Given the description of an element on the screen output the (x, y) to click on. 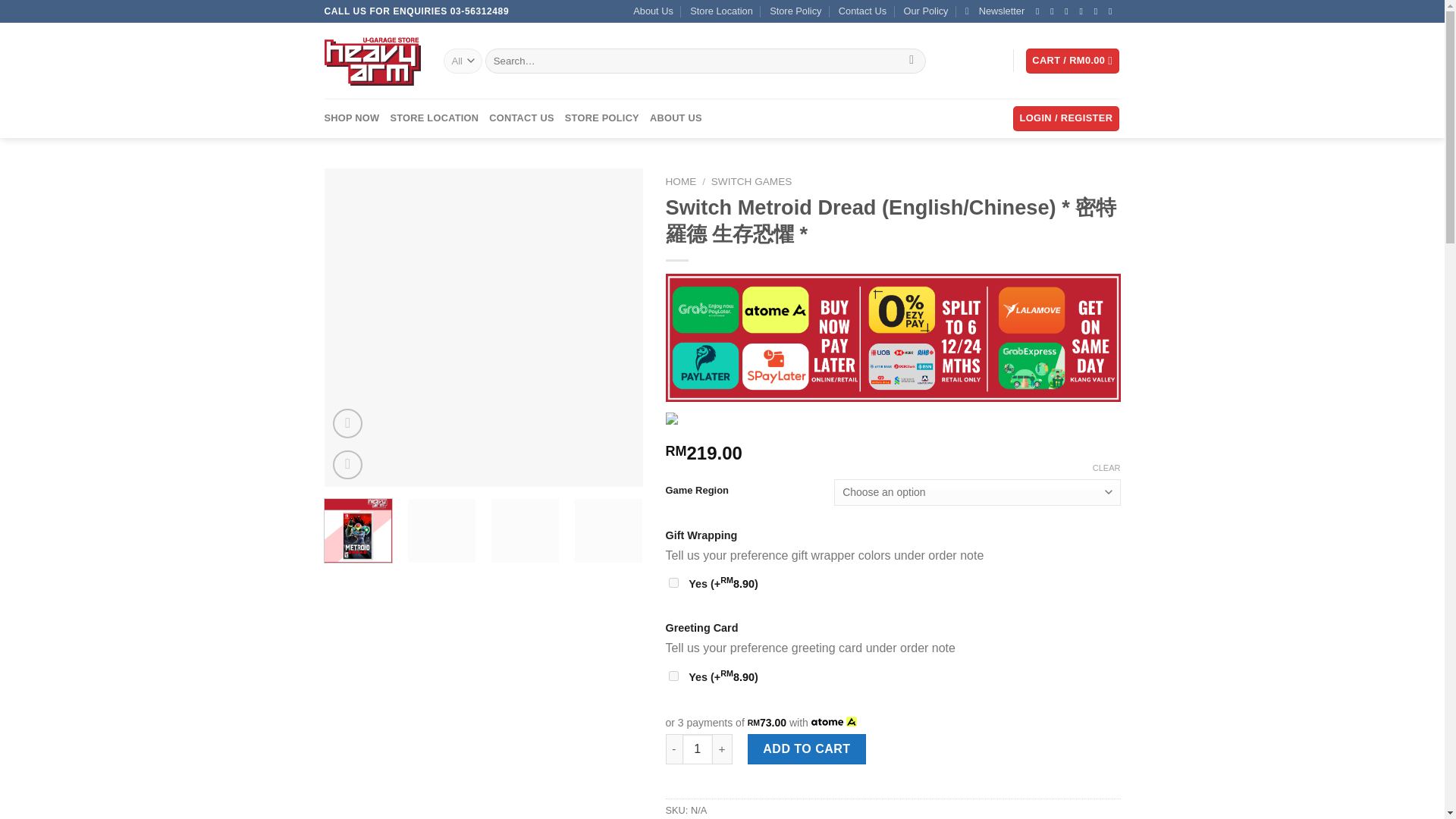
metroid dread cover (483, 327)
Store Location (721, 11)
Our Policy (926, 11)
metroid 3 (801, 257)
yes (673, 583)
Search (911, 61)
ABOUT US (675, 118)
STORE LOCATION (434, 118)
About Us (652, 11)
Zoom (347, 464)
